Given the description of an element on the screen output the (x, y) to click on. 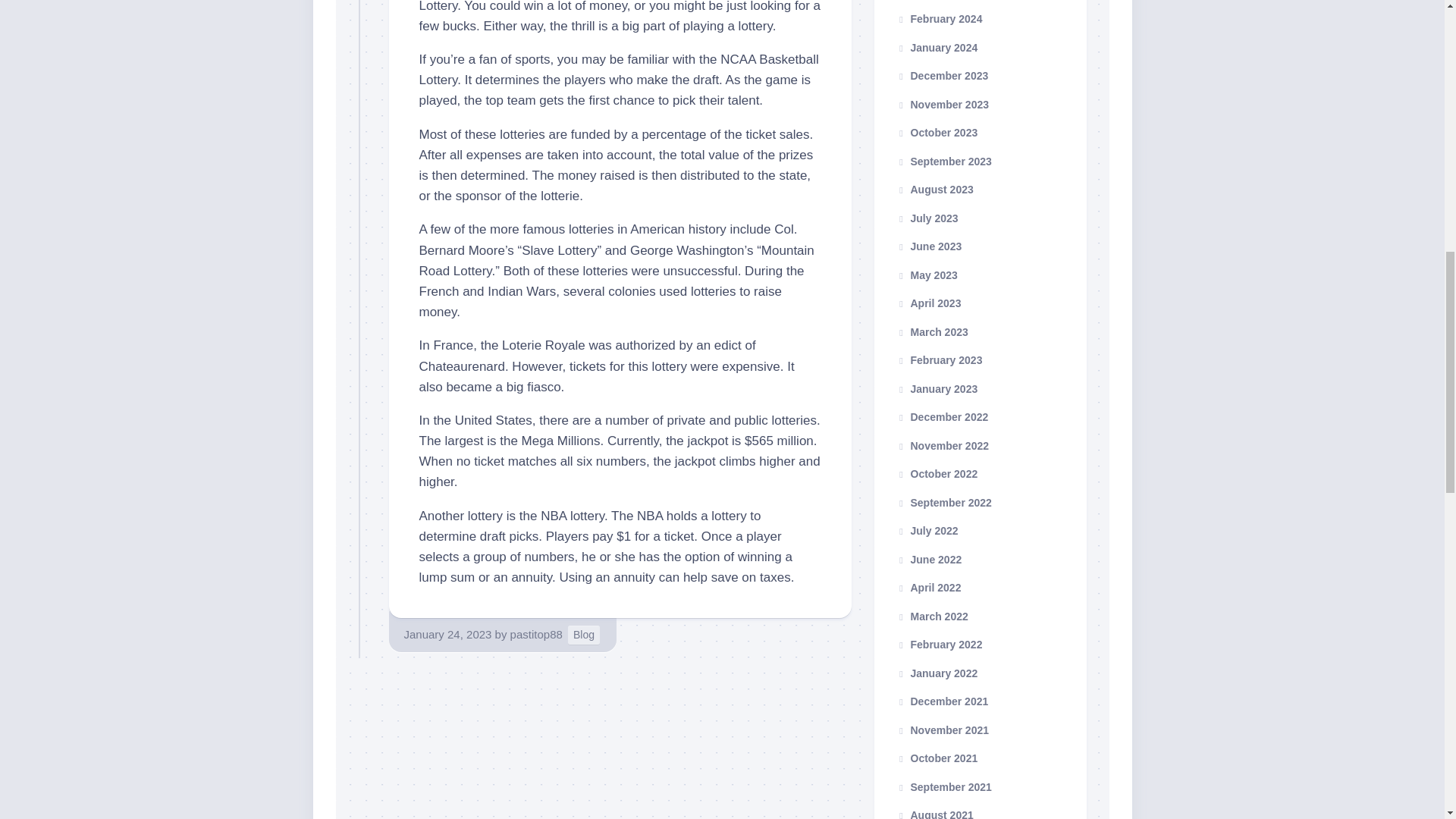
pastitop88 (536, 634)
Posts by pastitop88 (536, 634)
Blog (583, 634)
